Given the description of an element on the screen output the (x, y) to click on. 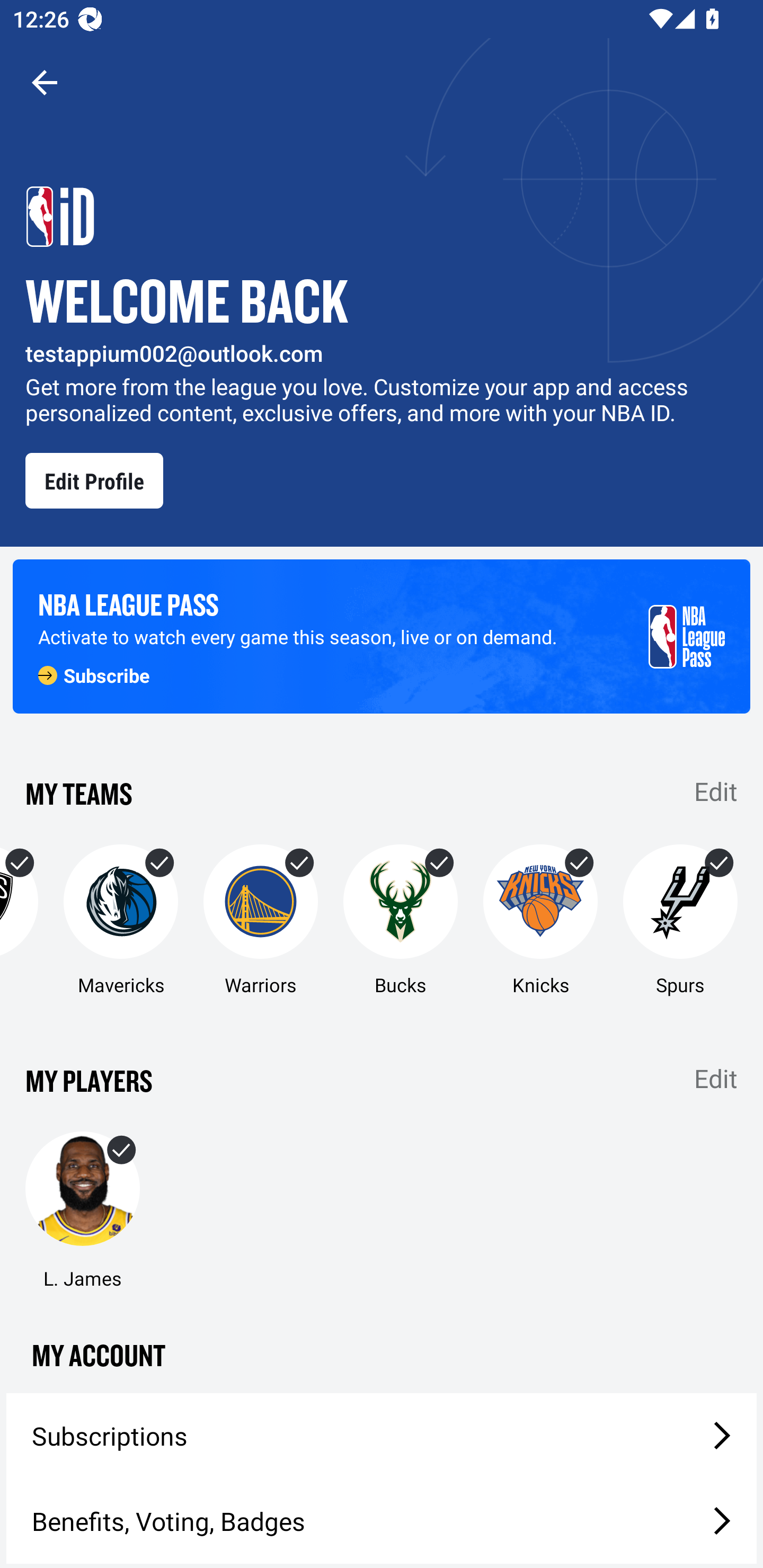
Navigate up (44, 82)
Edit Profile (94, 480)
Edit (715, 790)
Mavericks (120, 921)
Warriors (260, 921)
Bucks (400, 921)
Knicks (539, 921)
Spurs (680, 921)
Edit (715, 1078)
L. James (82, 1211)
Subscriptions (381, 1435)
Benefits, Voting, Badges (381, 1520)
